Given the description of an element on the screen output the (x, y) to click on. 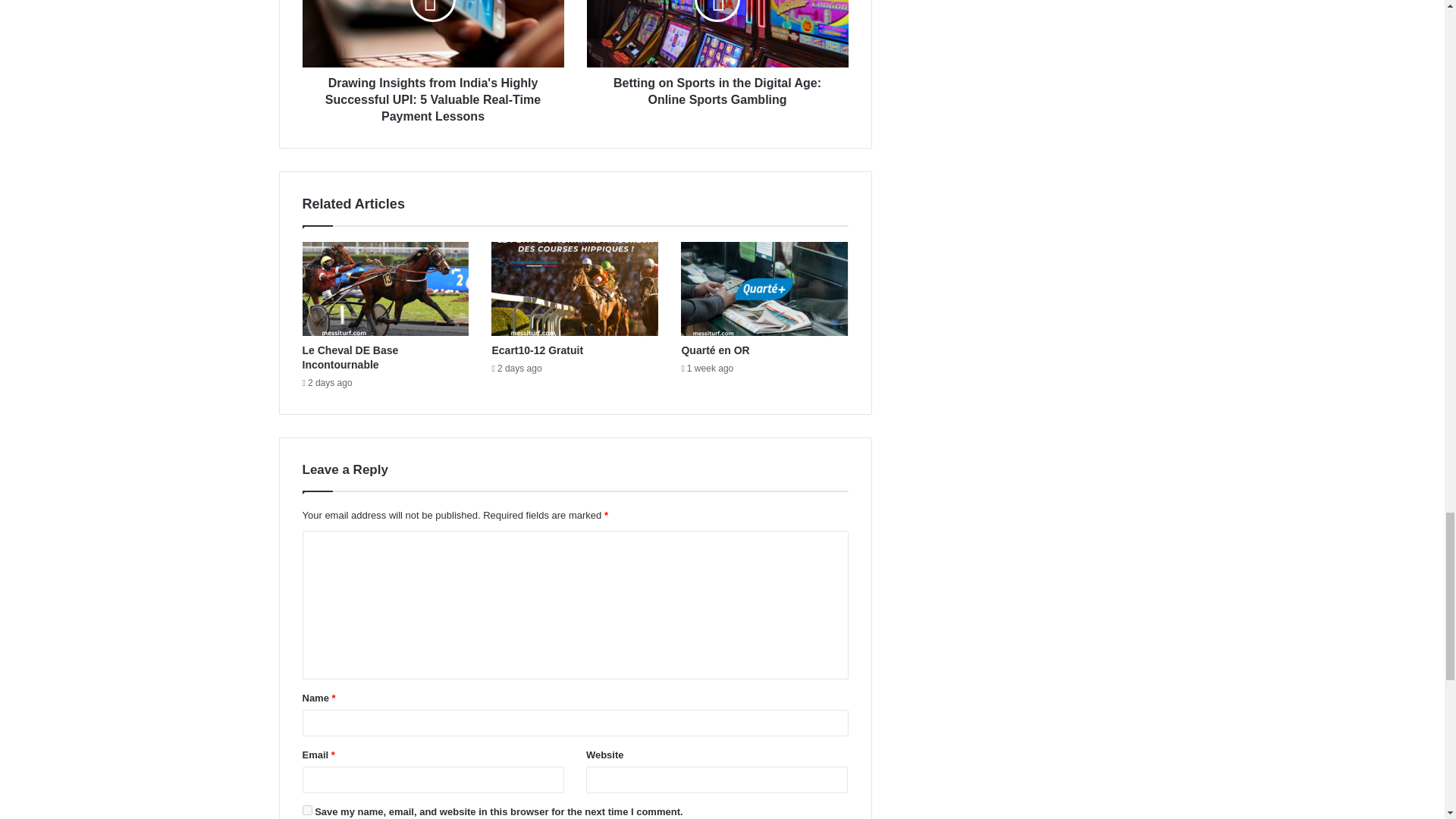
yes (306, 809)
